Given the description of an element on the screen output the (x, y) to click on. 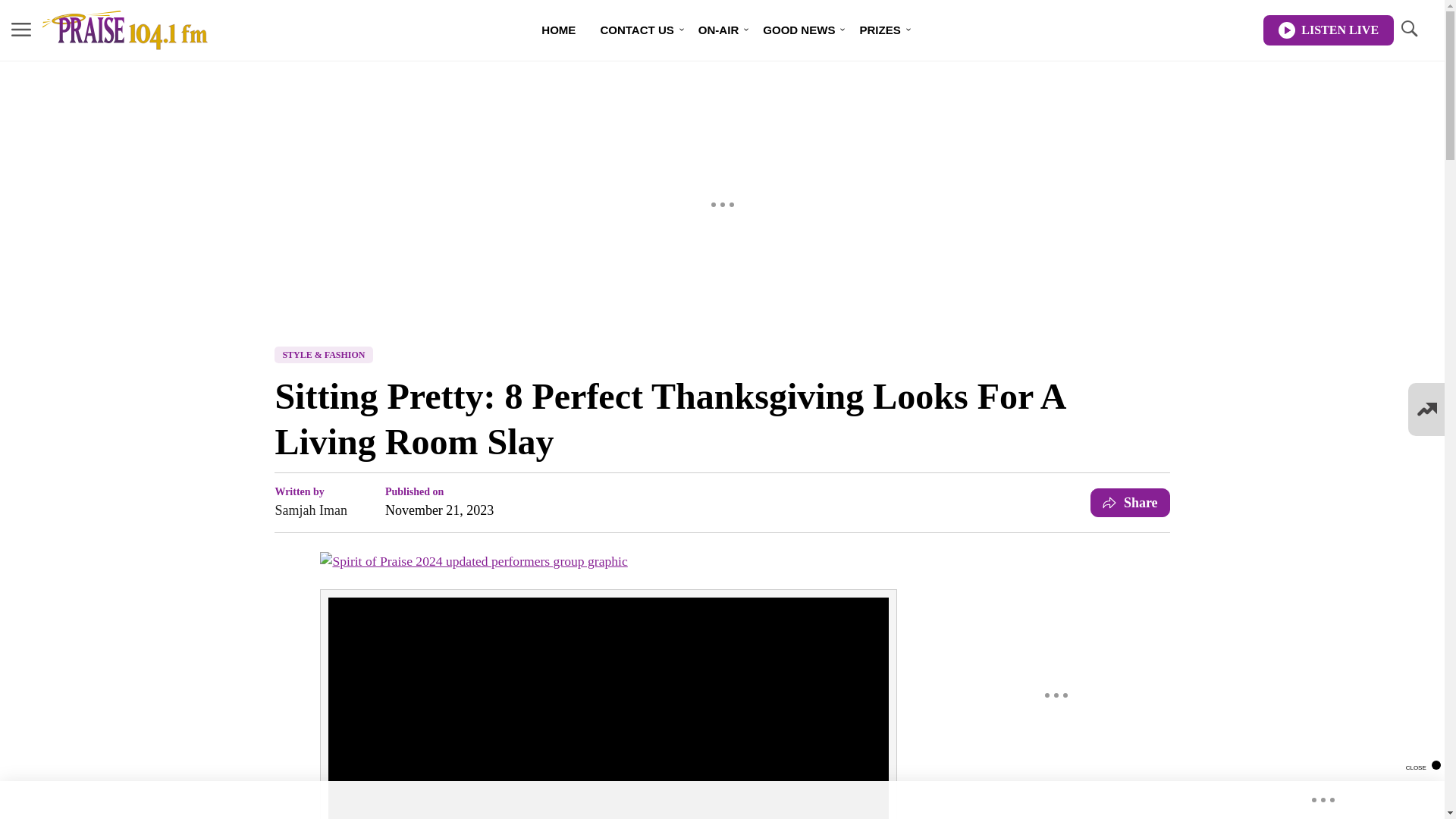
MENU (20, 30)
Samjah Iman (310, 509)
CONTACT US (636, 30)
MENU (20, 29)
HOME (558, 30)
Share (1130, 502)
GOOD NEWS (799, 30)
TOGGLE SEARCH (1408, 28)
LISTEN LIVE (1328, 30)
TOGGLE SEARCH (1408, 30)
ON-AIR (718, 30)
PRIZES (879, 30)
